Given the description of an element on the screen output the (x, y) to click on. 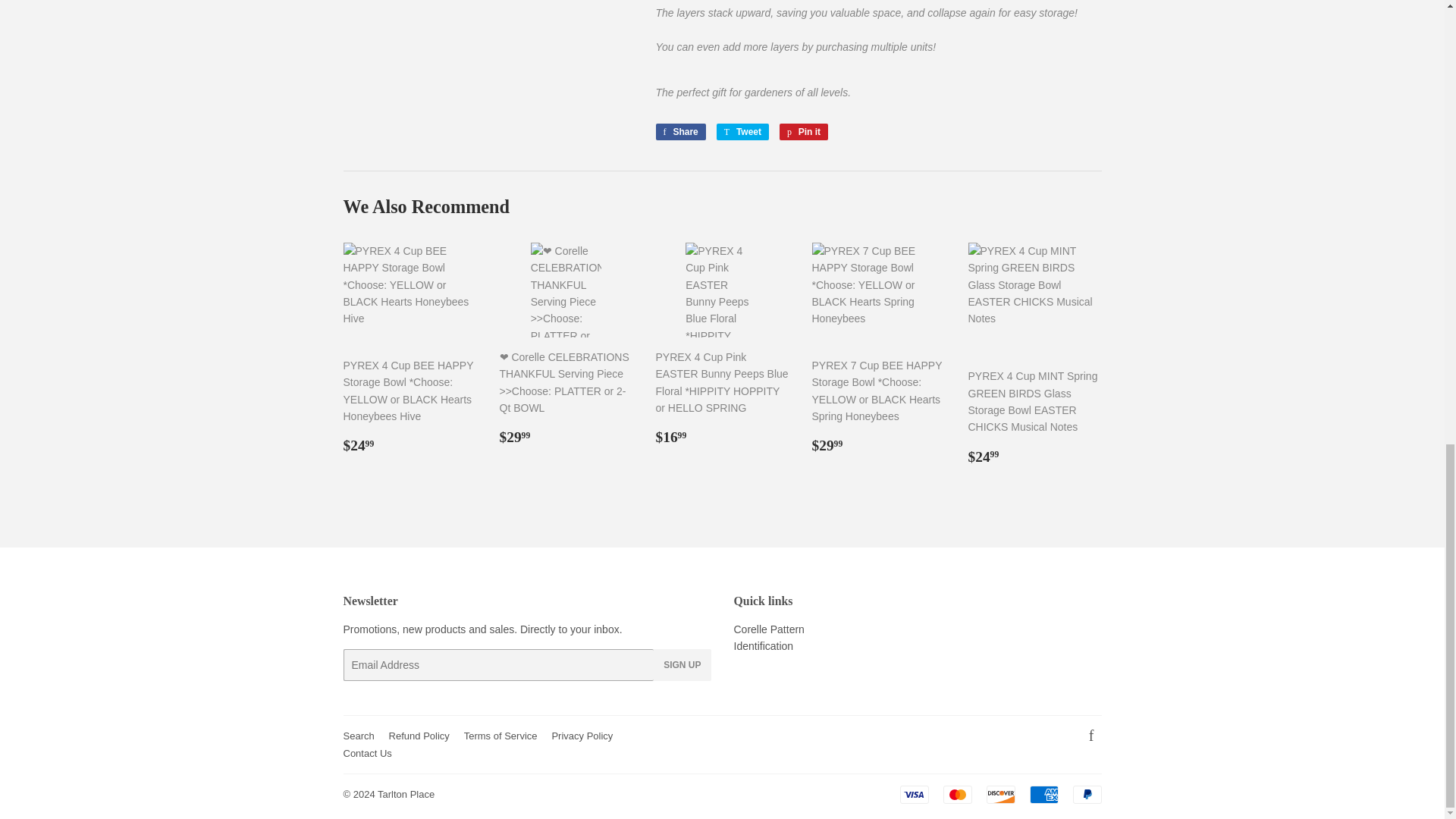
Mastercard (957, 794)
PayPal (1085, 794)
Pin on Pinterest (803, 131)
Discover (1000, 794)
Share on Facebook (679, 131)
Visa (913, 794)
Tweet on Twitter (742, 131)
American Express (1043, 794)
